Given the description of an element on the screen output the (x, y) to click on. 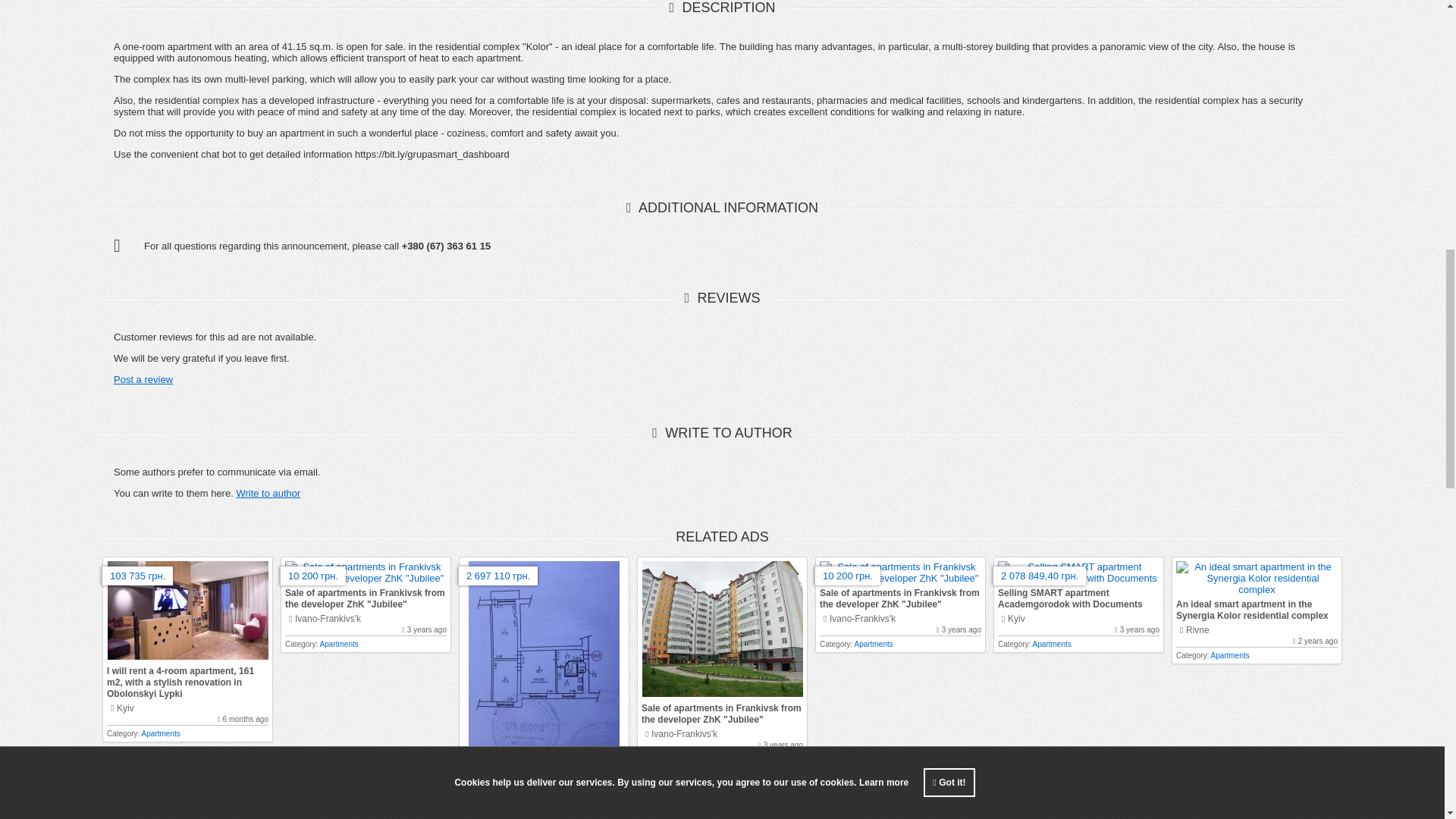
Selling a 3-room apartment on Svyatoshino in Kiev (528, 779)
Apartments (695, 759)
Post a review (143, 378)
Apartments (339, 643)
Write to author (267, 492)
Apartments (160, 733)
